Given the description of an element on the screen output the (x, y) to click on. 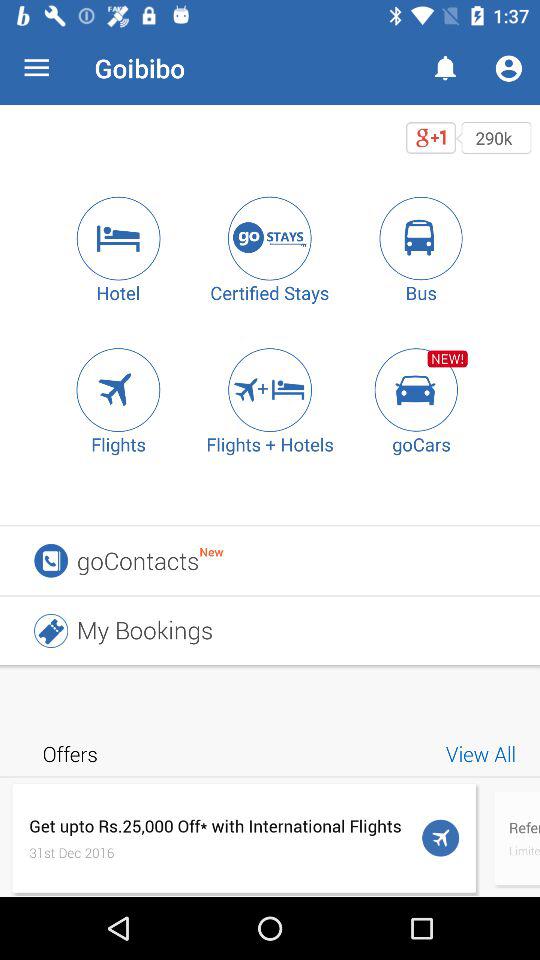
certified stays button (269, 238)
